Given the description of an element on the screen output the (x, y) to click on. 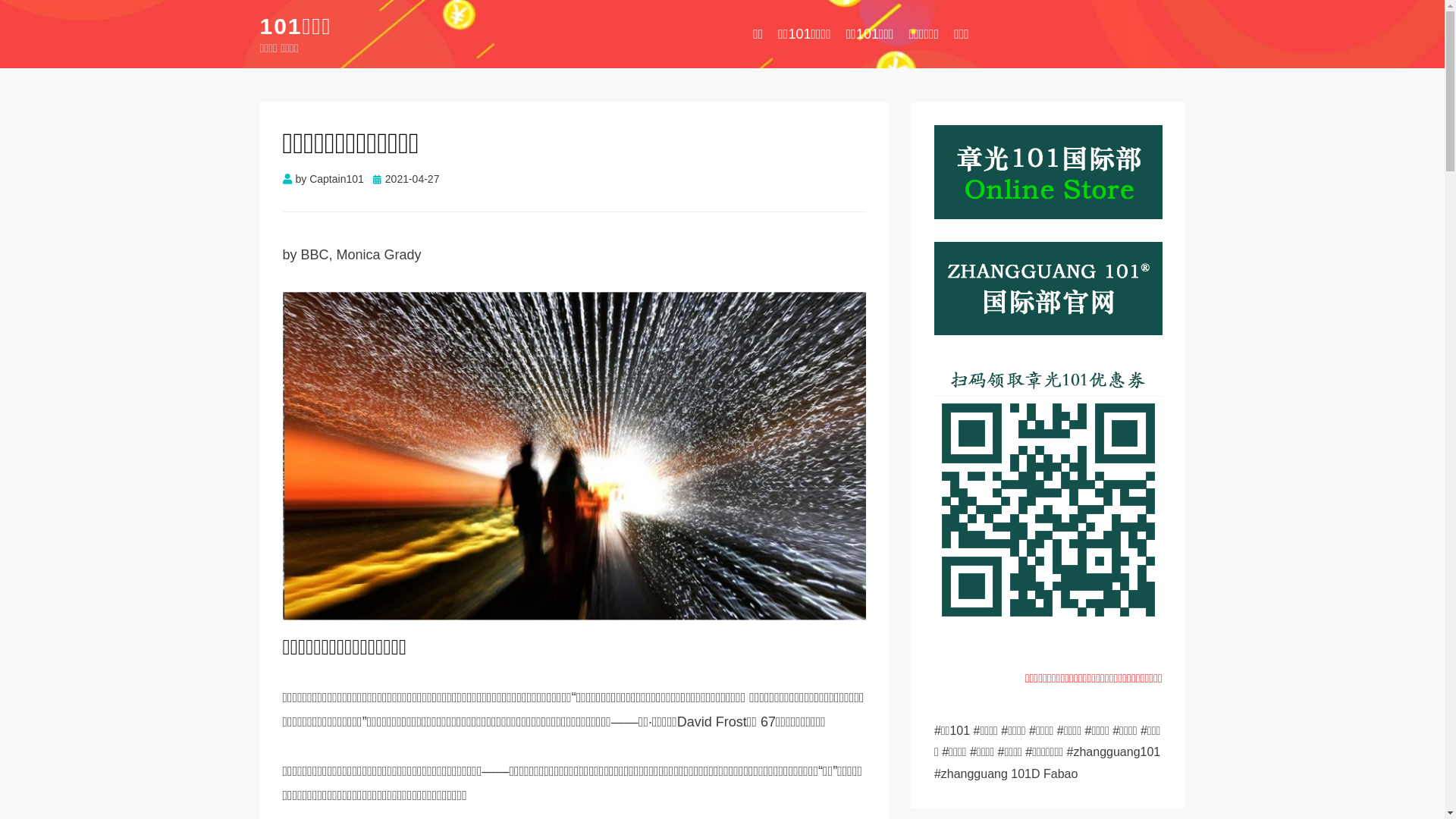
2021-04-27 Element type: text (406, 178)
Captain101 Element type: text (336, 178)
